Given the description of an element on the screen output the (x, y) to click on. 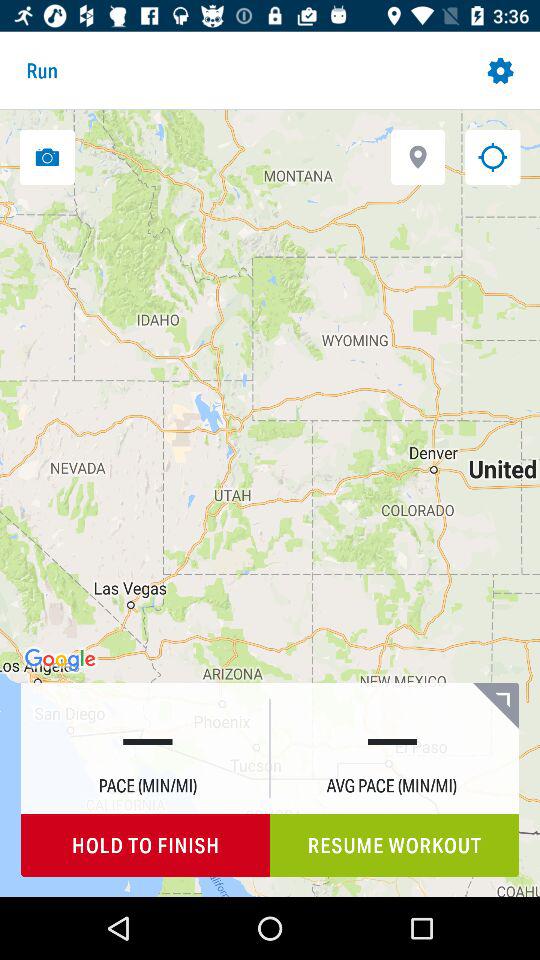
add a location (418, 156)
